Given the description of an element on the screen output the (x, y) to click on. 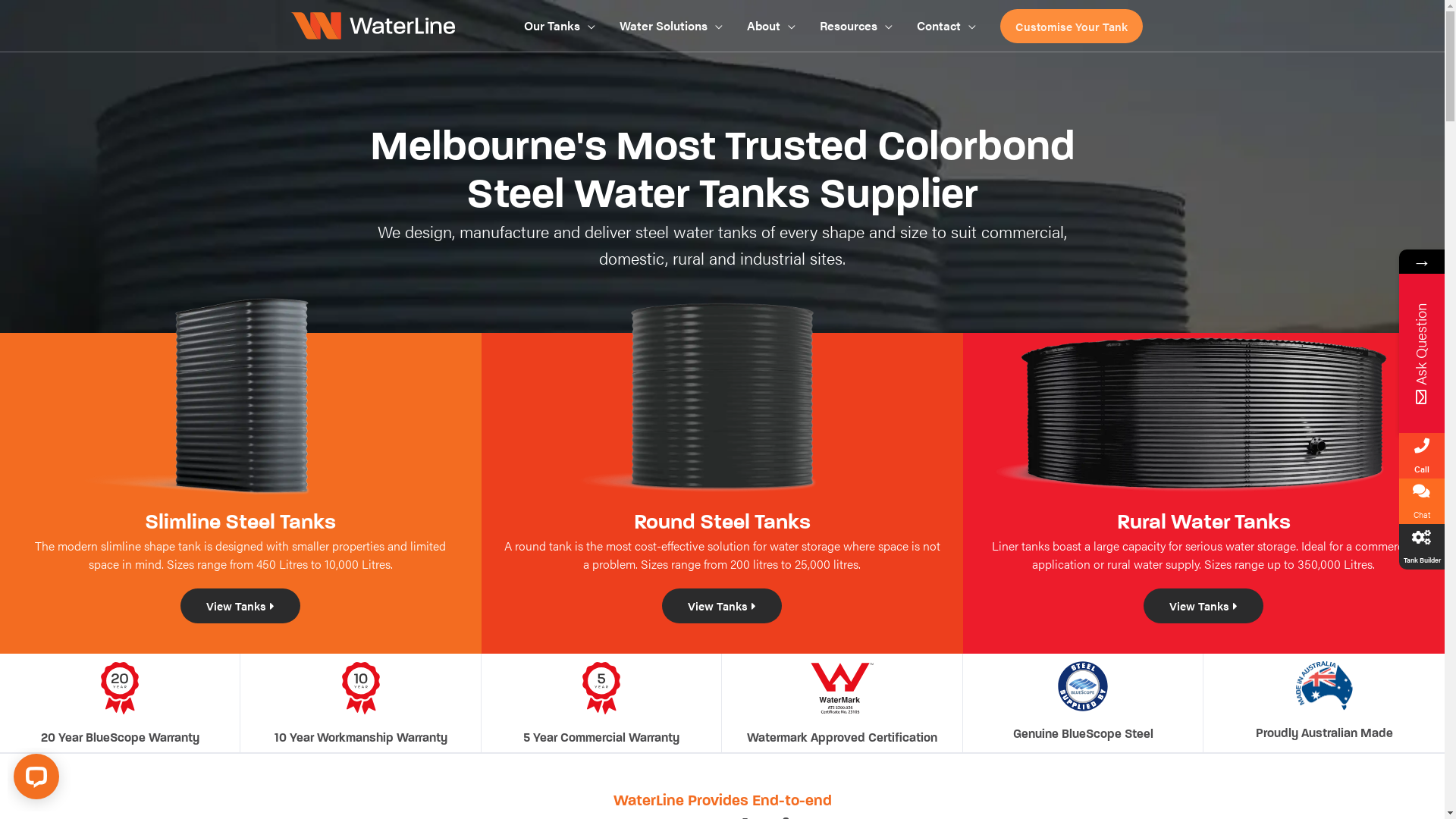
View Tanks Element type: text (1203, 605)
Call Element type: text (1421, 455)
Tank Builder Element type: text (1421, 546)
Customise Your Tank Element type: text (1070, 26)
Resources Element type: text (854, 25)
View Tanks Element type: text (721, 605)
Round Steel Tanks Element type: text (721, 521)
LiveChat chat widget Element type: hover (39, 779)
Slimline Steel Tanks Element type: text (239, 521)
View Tanks Element type: text (240, 605)
Our Tanks Element type: text (558, 25)
Contact Element type: text (945, 25)
Rural Water Tanks Element type: text (1203, 521)
About Element type: text (770, 25)
Water Solutions Element type: text (670, 25)
